Given the description of an element on the screen output the (x, y) to click on. 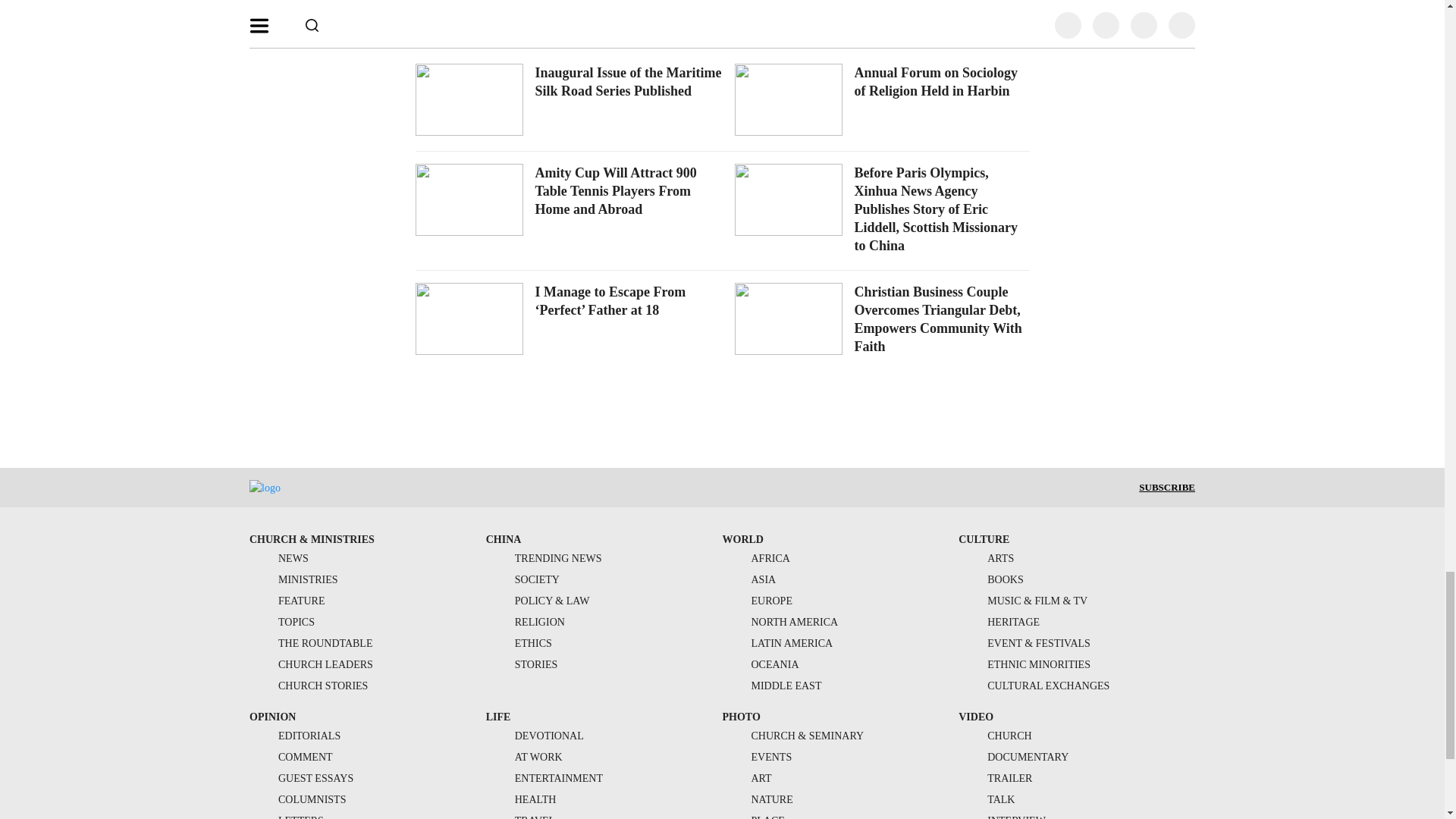
FEATURE (286, 600)
MINISTRIES (292, 579)
Inaugural Issue of the Maritime Silk Road Series Published (628, 81)
NEWS (278, 558)
TOPICS (281, 622)
THE ROUNDTABLE (310, 643)
Annual Forum on Sociology of Religion Held in Harbin (935, 81)
CHURCH LEADERS (310, 664)
